Given the description of an element on the screen output the (x, y) to click on. 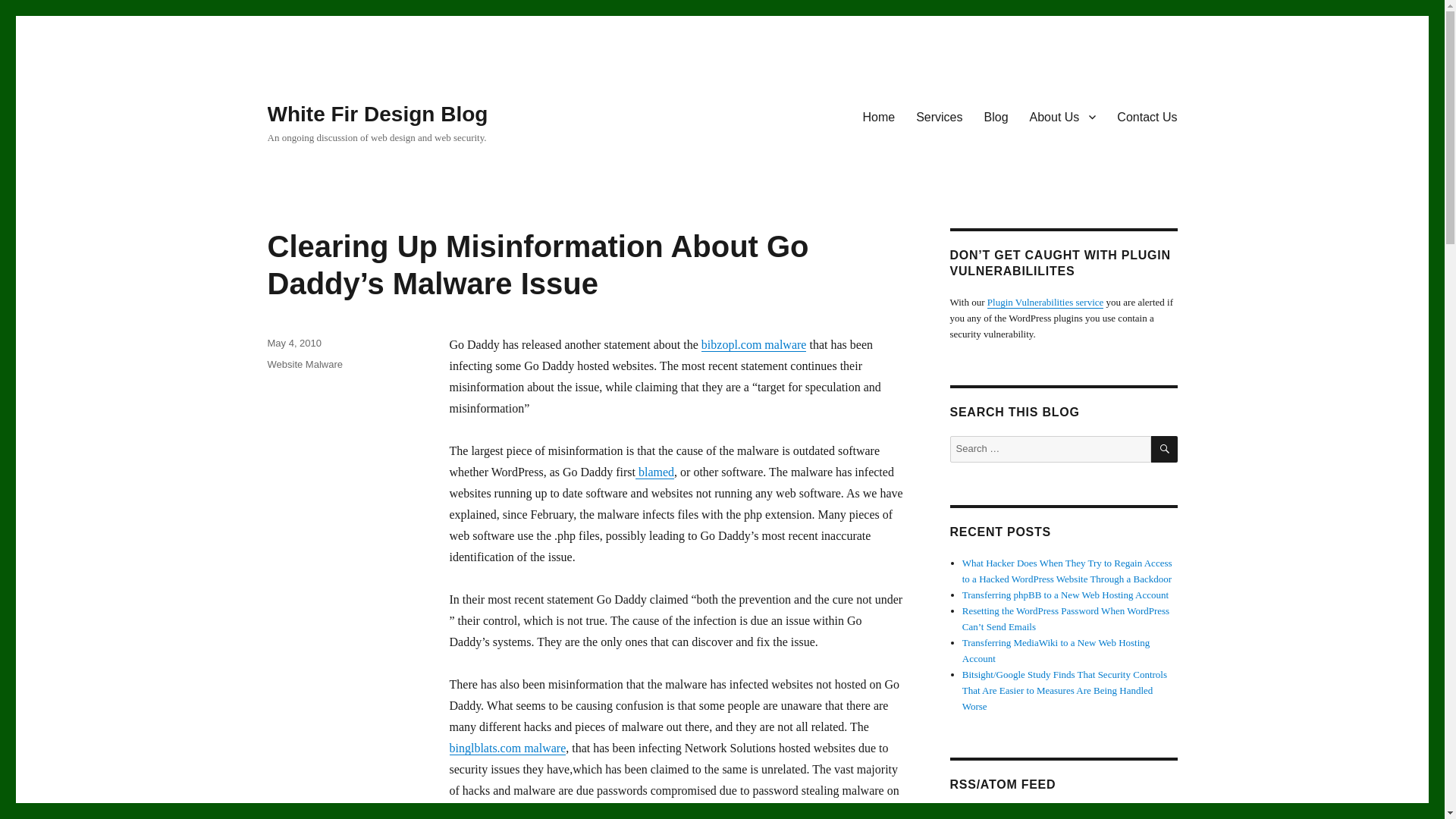
Transferring MediaWiki to a New Web Hosting Account (1056, 650)
binglblats.com malware (507, 748)
Services (938, 116)
May 4, 2010 (293, 342)
Blog (996, 116)
Plugin Vulnerabilities service (1045, 301)
bibzopl.com malware (753, 344)
Website Malware (304, 364)
About Us (1062, 116)
Contact Us (1147, 116)
Home (878, 116)
SEARCH (1164, 448)
Transferring phpBB to a New Web Hosting Account (1065, 594)
RSS (1106, 814)
Atom (1144, 814)
